Given the description of an element on the screen output the (x, y) to click on. 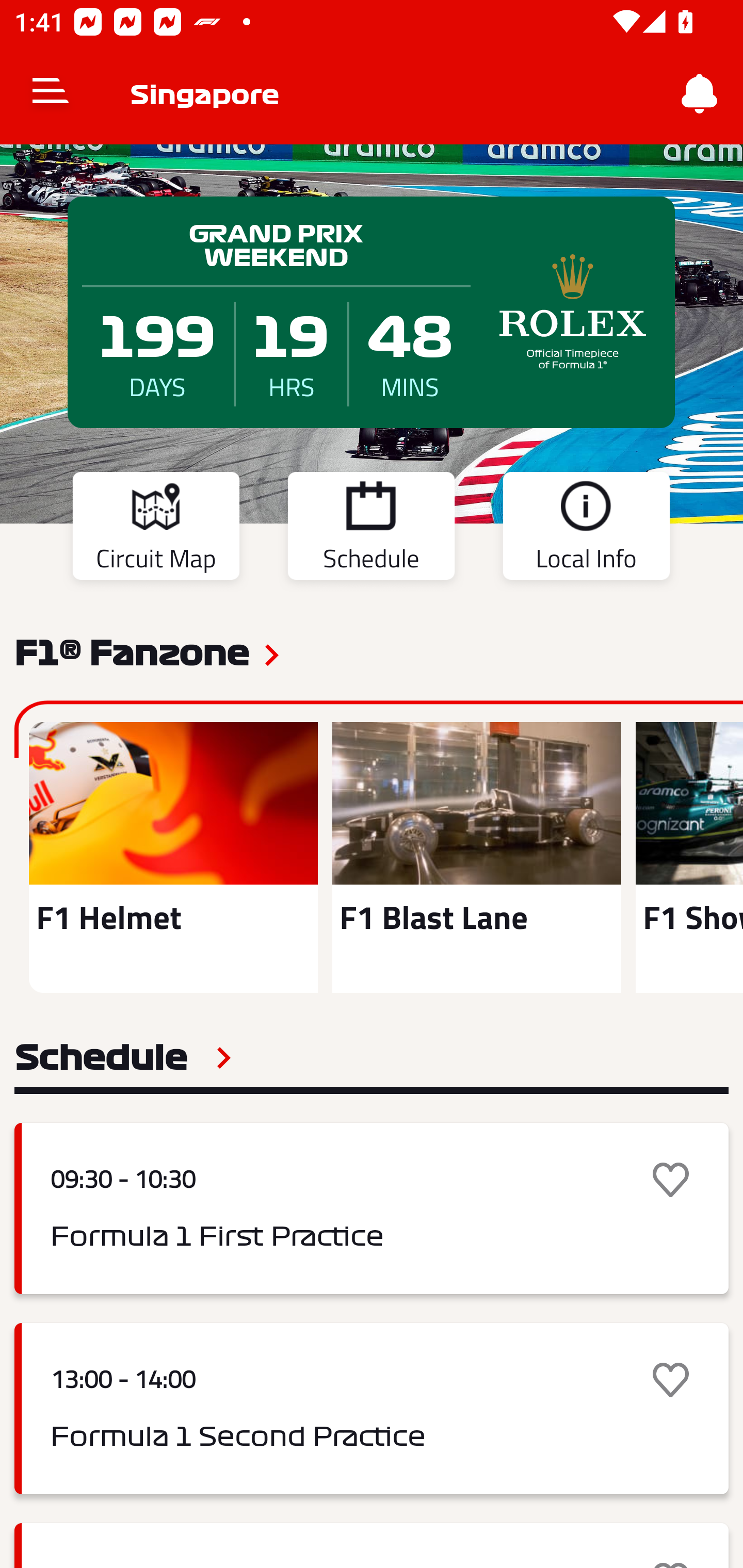
Navigate up (50, 93)
Notifications (699, 93)
Circuit Map (155, 528)
Schedule (370, 528)
Local Info (586, 528)
F1® Fanzone (131, 651)
F1 Helmet (173, 857)
F1 Blast Lane (476, 857)
Schedule (122, 1057)
09:30 - 10:30 Formula 1 First Practice (371, 1207)
13:00 - 14:00 Formula 1 Second Practice (371, 1408)
